Given the description of an element on the screen output the (x, y) to click on. 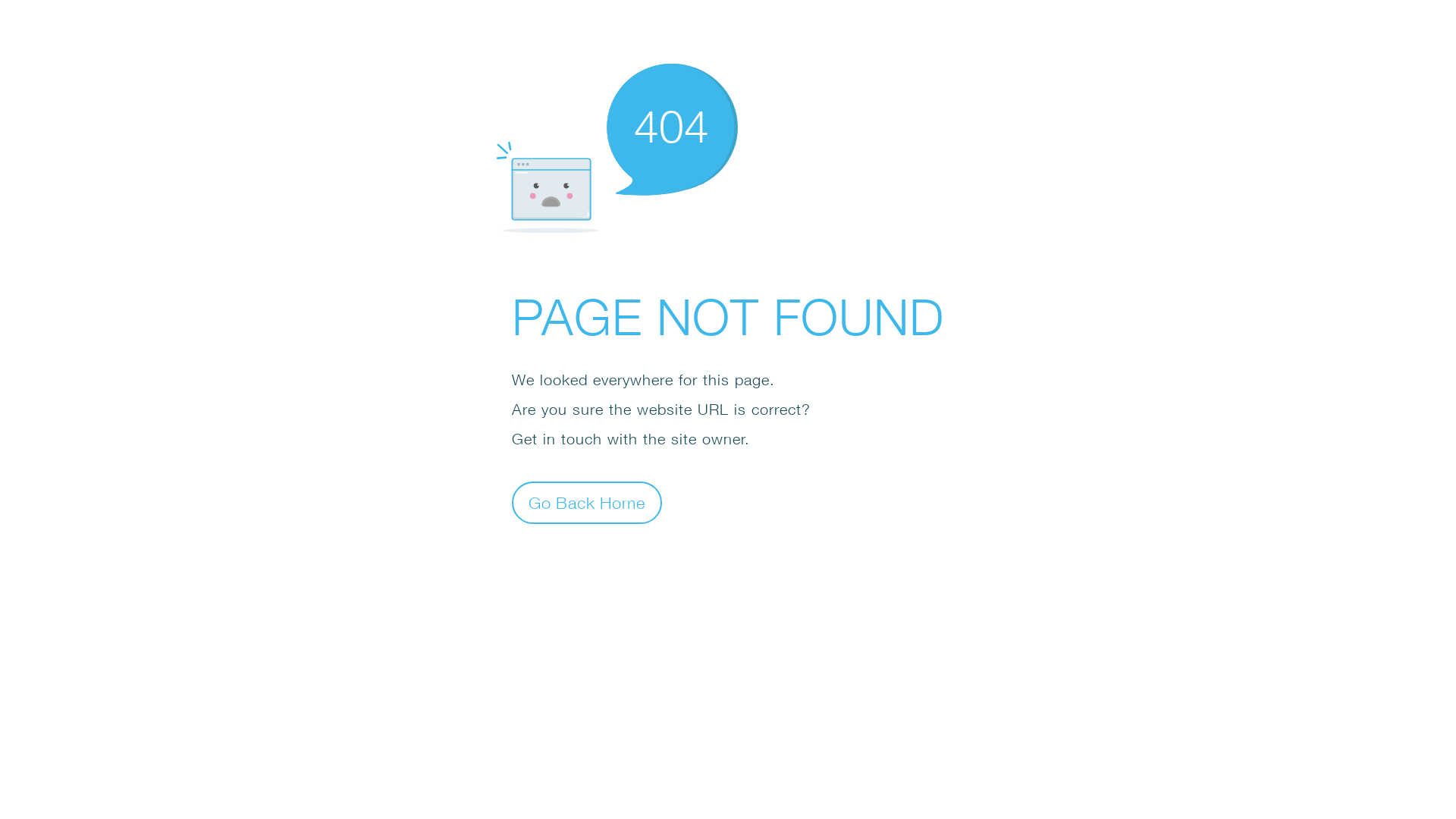
Go Back Home Element type: text (586, 502)
